Given the description of an element on the screen output the (x, y) to click on. 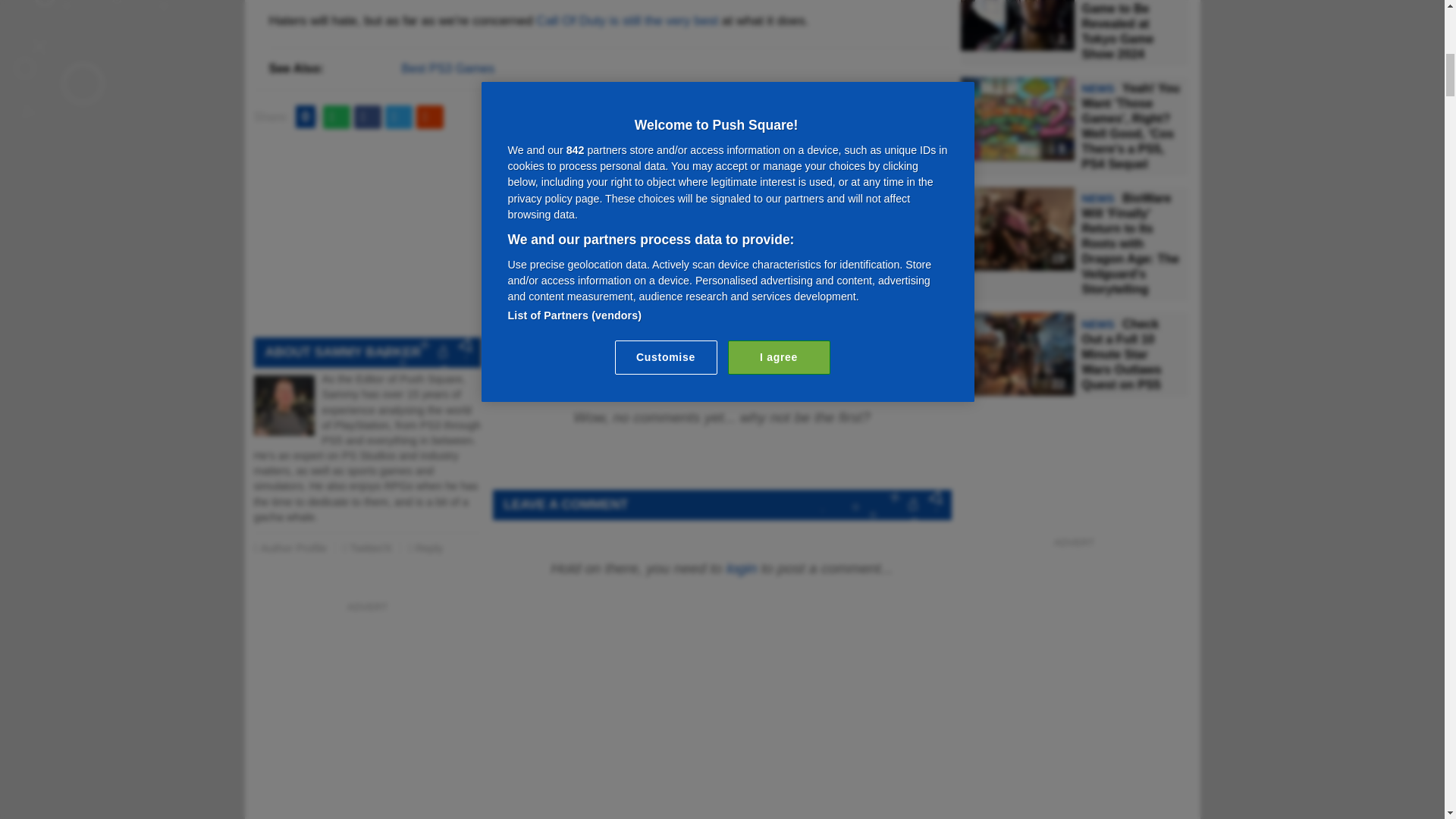
Share this on Reddit (430, 116)
Share this on Facebook (367, 116)
Share this on WhatsApp (336, 116)
Share this on Twitter (398, 116)
